Given the description of an element on the screen output the (x, y) to click on. 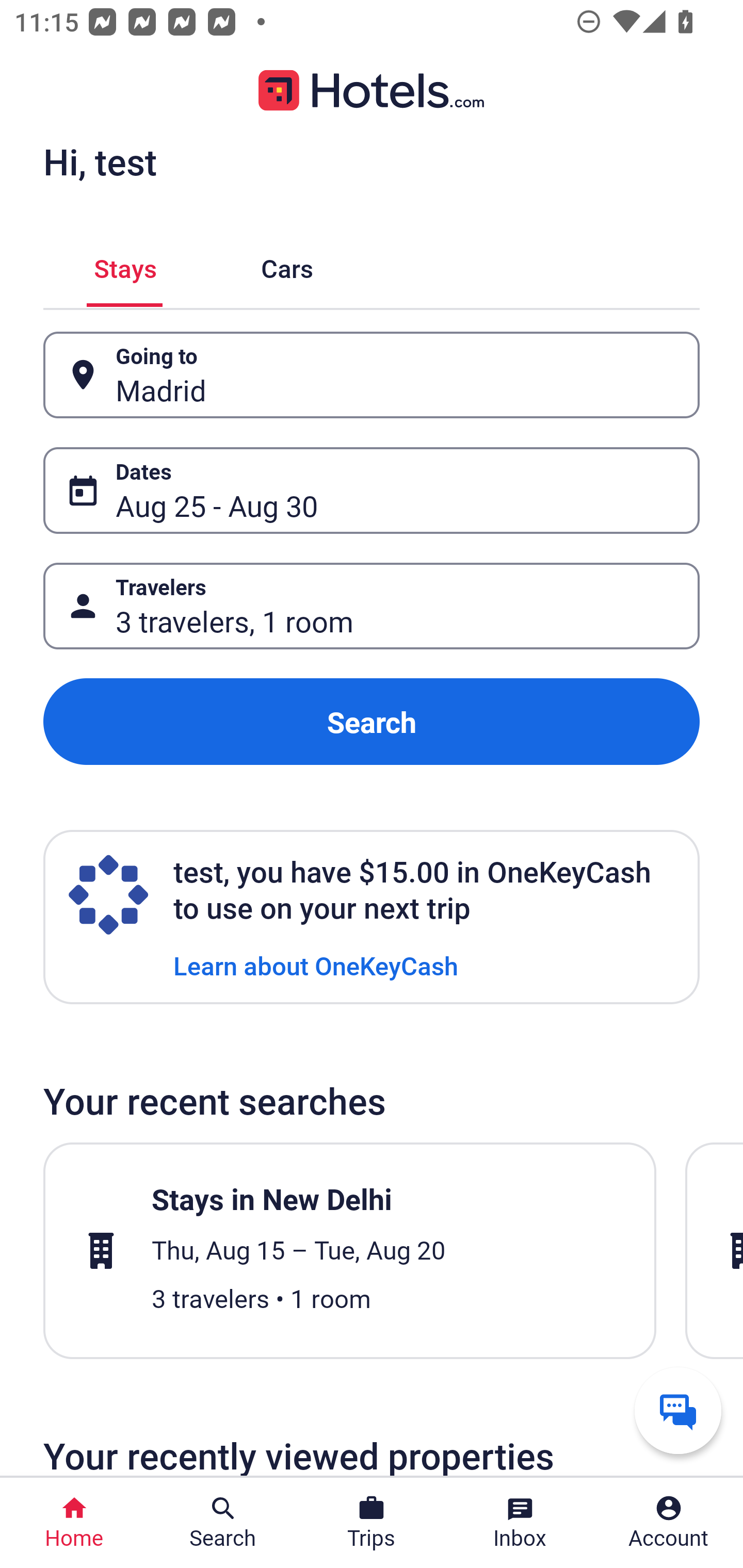
Hi, test (99, 161)
Cars (286, 265)
Going to Button Madrid (371, 375)
Dates Button Aug 25 - Aug 30 (371, 489)
Travelers Button 3 travelers, 1 room (371, 605)
Search (371, 721)
Learn about OneKeyCash Learn about OneKeyCash Link (315, 964)
Get help from a virtual agent (677, 1410)
Search Search Button (222, 1522)
Trips Trips Button (371, 1522)
Inbox Inbox Button (519, 1522)
Account Profile. Button (668, 1522)
